Given the description of an element on the screen output the (x, y) to click on. 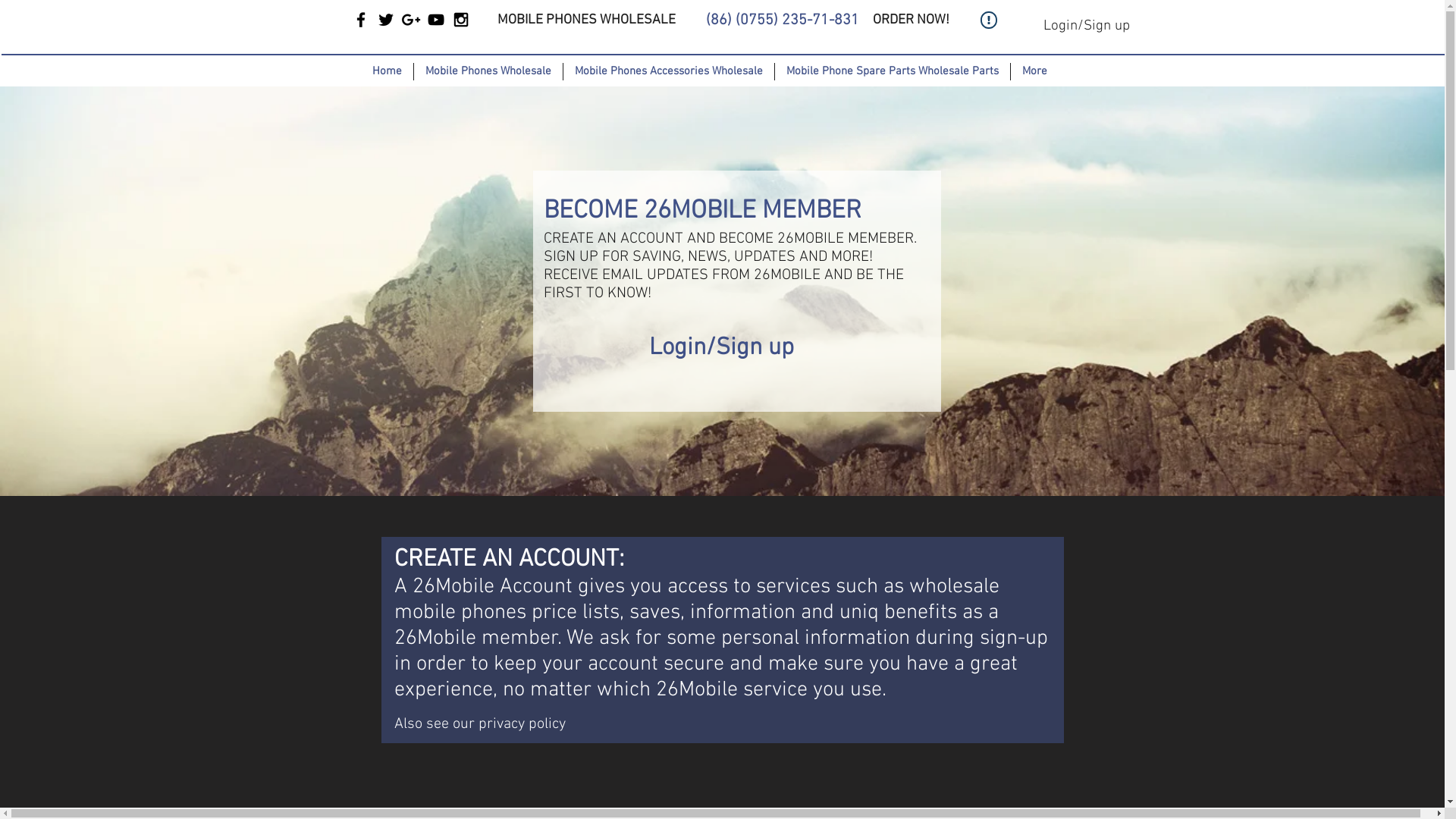
Login/Sign up Element type: text (1086, 26)
Mobile Phones Accessories Wholesale Element type: text (668, 71)
Also see our privacy policy Element type: text (479, 721)
Back to Top Element type: hover (1041, 771)
Mobile Phone Spare Parts Wholesale Parts Element type: text (891, 71)
Mobile Phones Wholesale Element type: text (486, 71)
Home Element type: text (386, 71)
Login/Sign up Element type: text (721, 348)
